Given the description of an element on the screen output the (x, y) to click on. 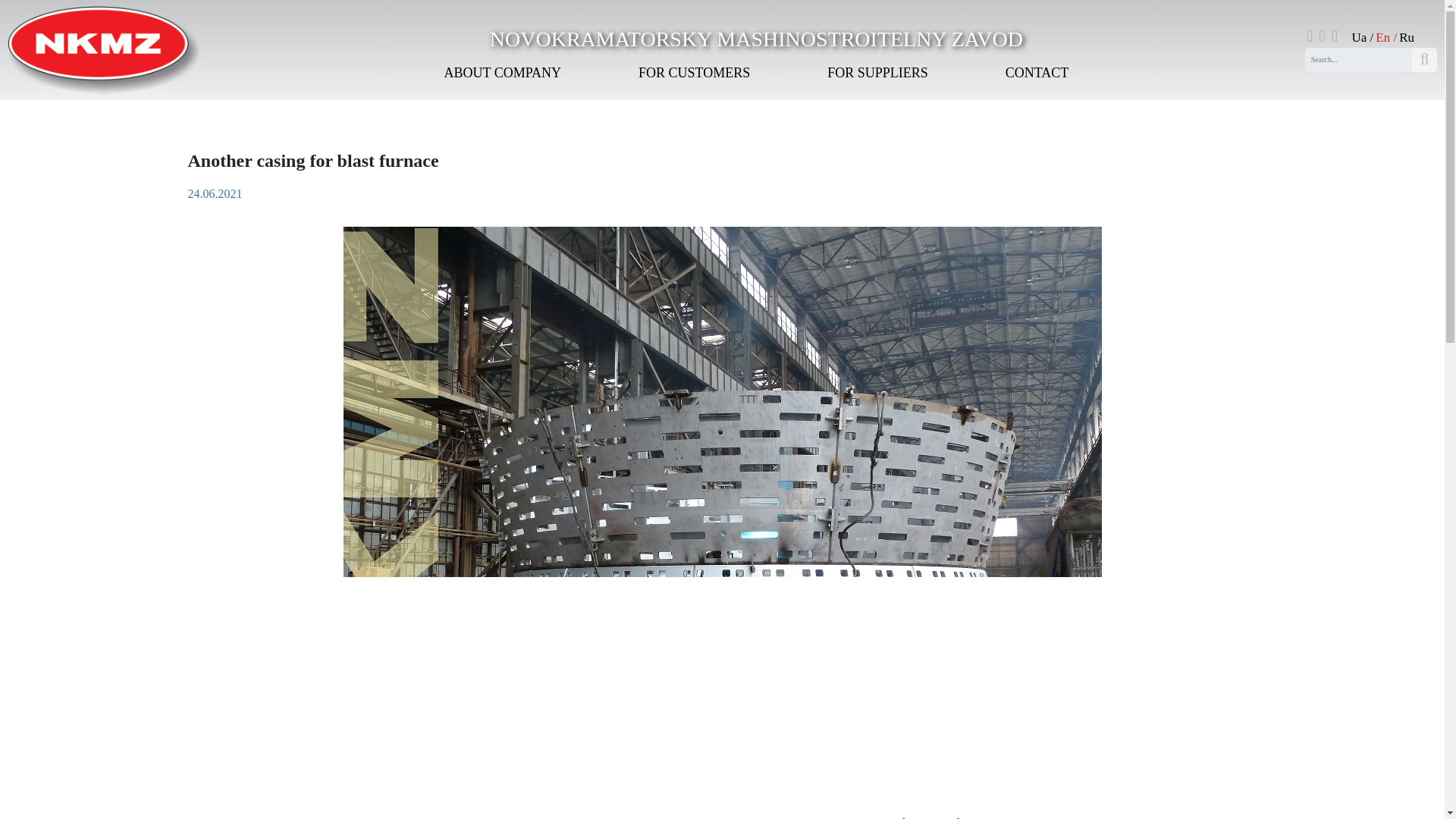
FOR SUPPLIERS (877, 72)
ABOUT COMPANY (501, 72)
CONTACT (1037, 72)
Ru (1406, 37)
24.06.2021 (215, 193)
FOR CUSTOMERS (694, 72)
